Given the description of an element on the screen output the (x, y) to click on. 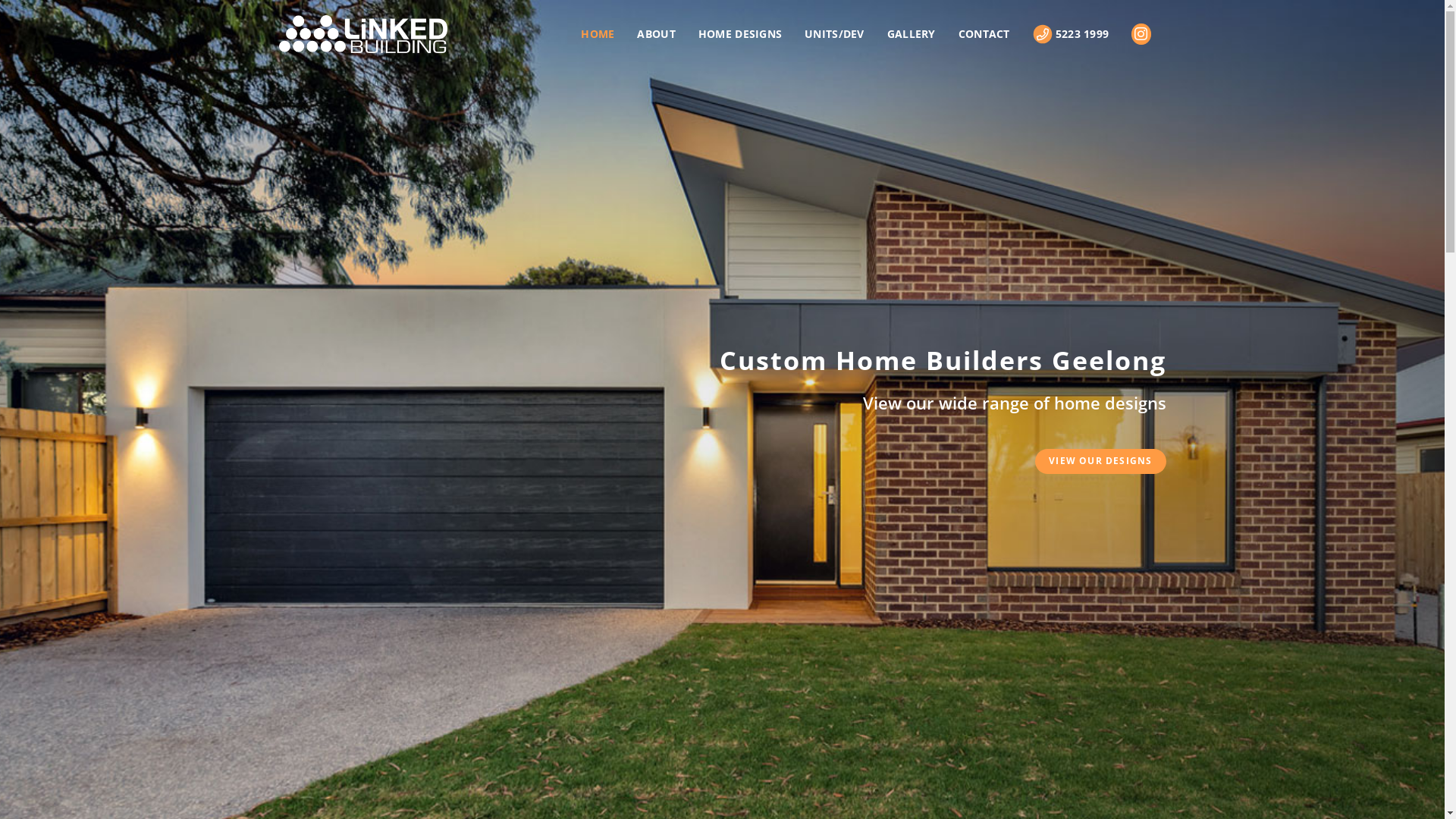
Submit Element type: text (690, 568)
ABOUT Element type: text (655, 34)
HOME DESIGNS Element type: text (739, 34)
GALLERY Element type: text (911, 34)
UNITS/DEV Element type: text (834, 34)
Linked Building Element type: hover (363, 33)
VIEW OUR DESIGNS Element type: text (1100, 461)
CONTACT Element type: text (984, 34)
HOME Element type: text (597, 34)
5223 1999 Element type: text (1070, 34)
